Given the description of an element on the screen output the (x, y) to click on. 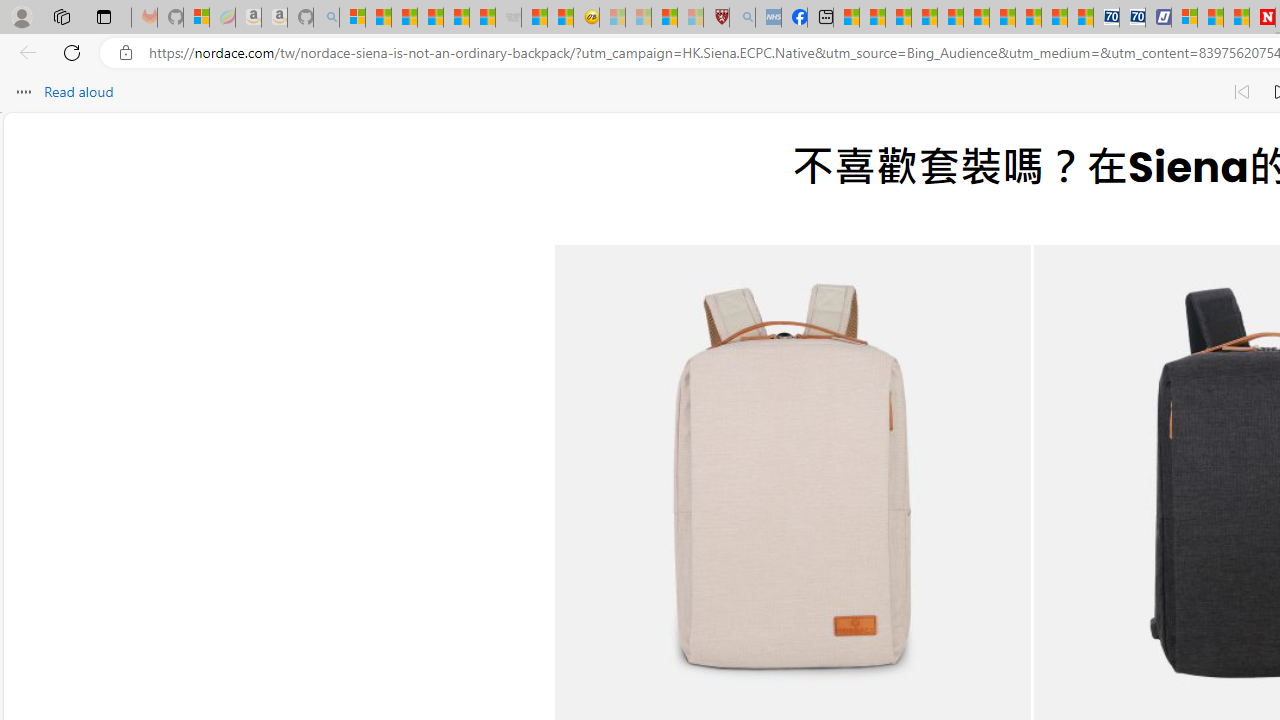
The Weather Channel - MSN (404, 17)
Robert H. Shmerling, MD - Harvard Health (716, 17)
12 Popular Science Lies that Must be Corrected - Sleeping (690, 17)
Combat Siege - Sleeping (507, 17)
Class: flickity-button-icon (605, 502)
Cheap Car Rentals - Save70.com (1106, 17)
New Report Confirms 2023 Was Record Hot | Watch (456, 17)
